Given the description of an element on the screen output the (x, y) to click on. 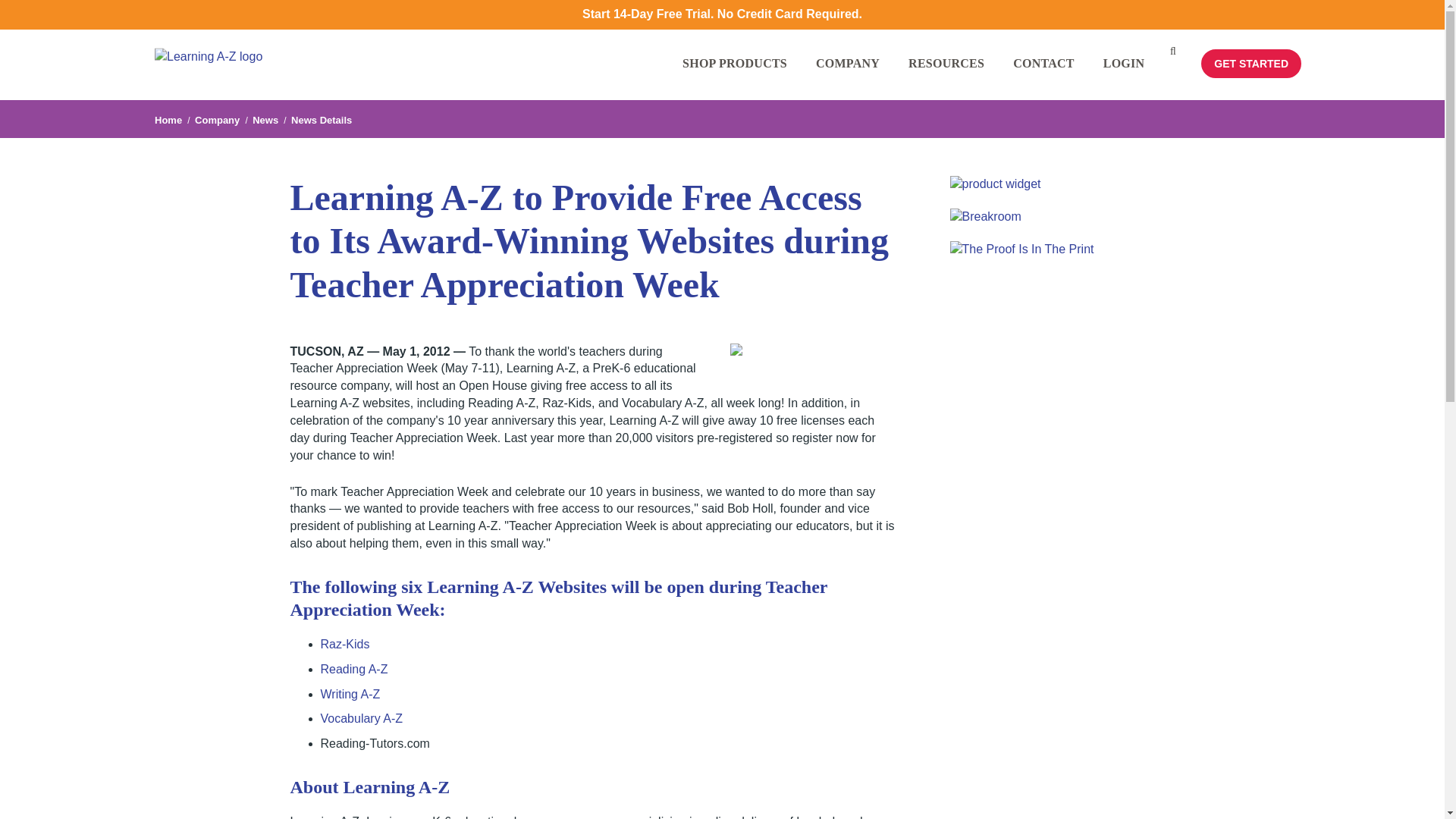
RESOURCES (952, 77)
COMPANY (854, 77)
SHOP PRODUCTS (741, 77)
